Given the description of an element on the screen output the (x, y) to click on. 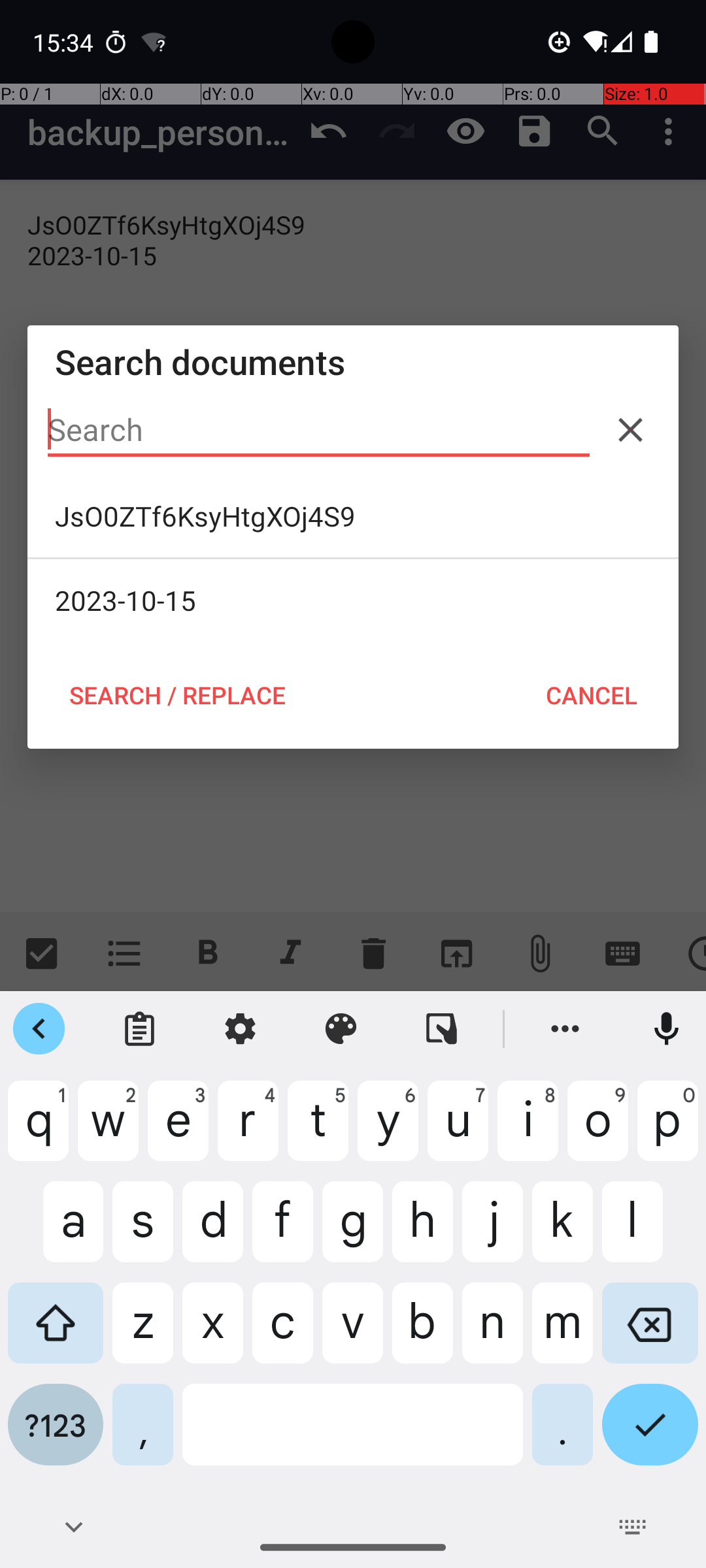
JsO0ZTf6KsyHtgXOj4S9 Element type: android.widget.TextView (352, 515)
2023-10-15 Element type: android.widget.TextView (352, 600)
